Given the description of an element on the screen output the (x, y) to click on. 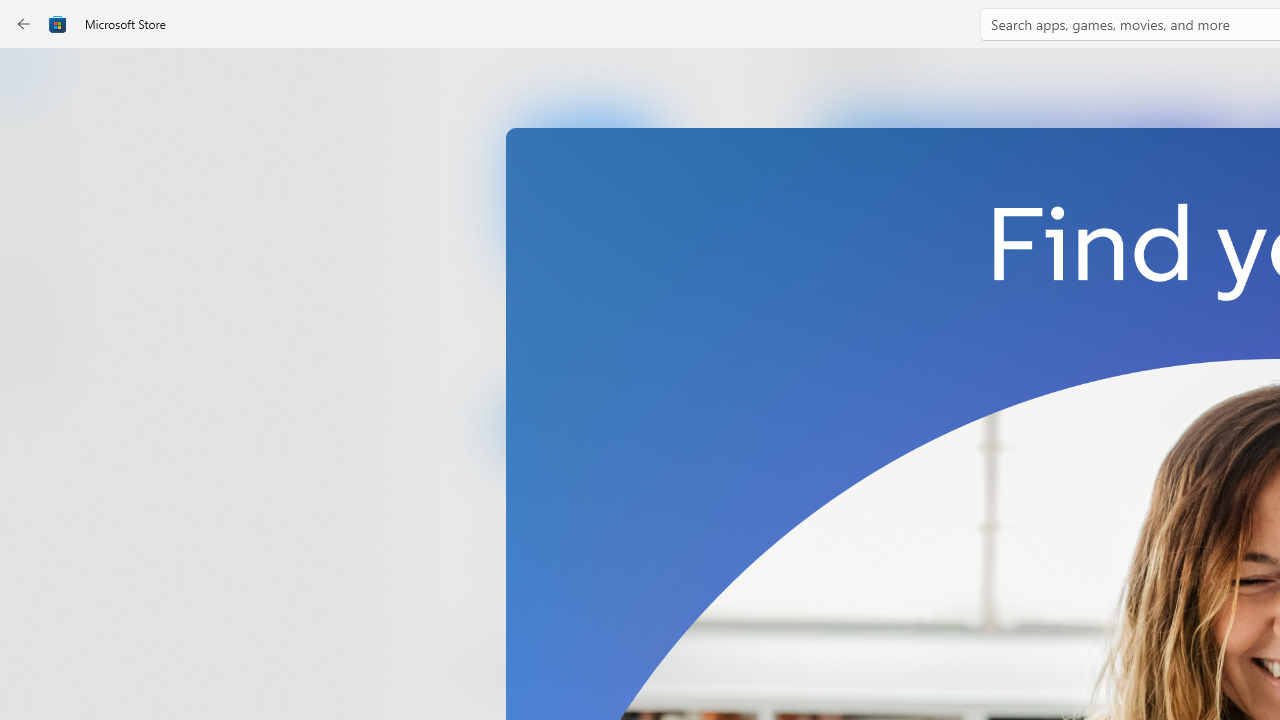
Get (586, 424)
3.9 stars. Click to skip to ratings and reviews (542, 556)
Back (24, 24)
Screenshot 1 (1029, 279)
LinkedIn (585, 333)
